Given the description of an element on the screen output the (x, y) to click on. 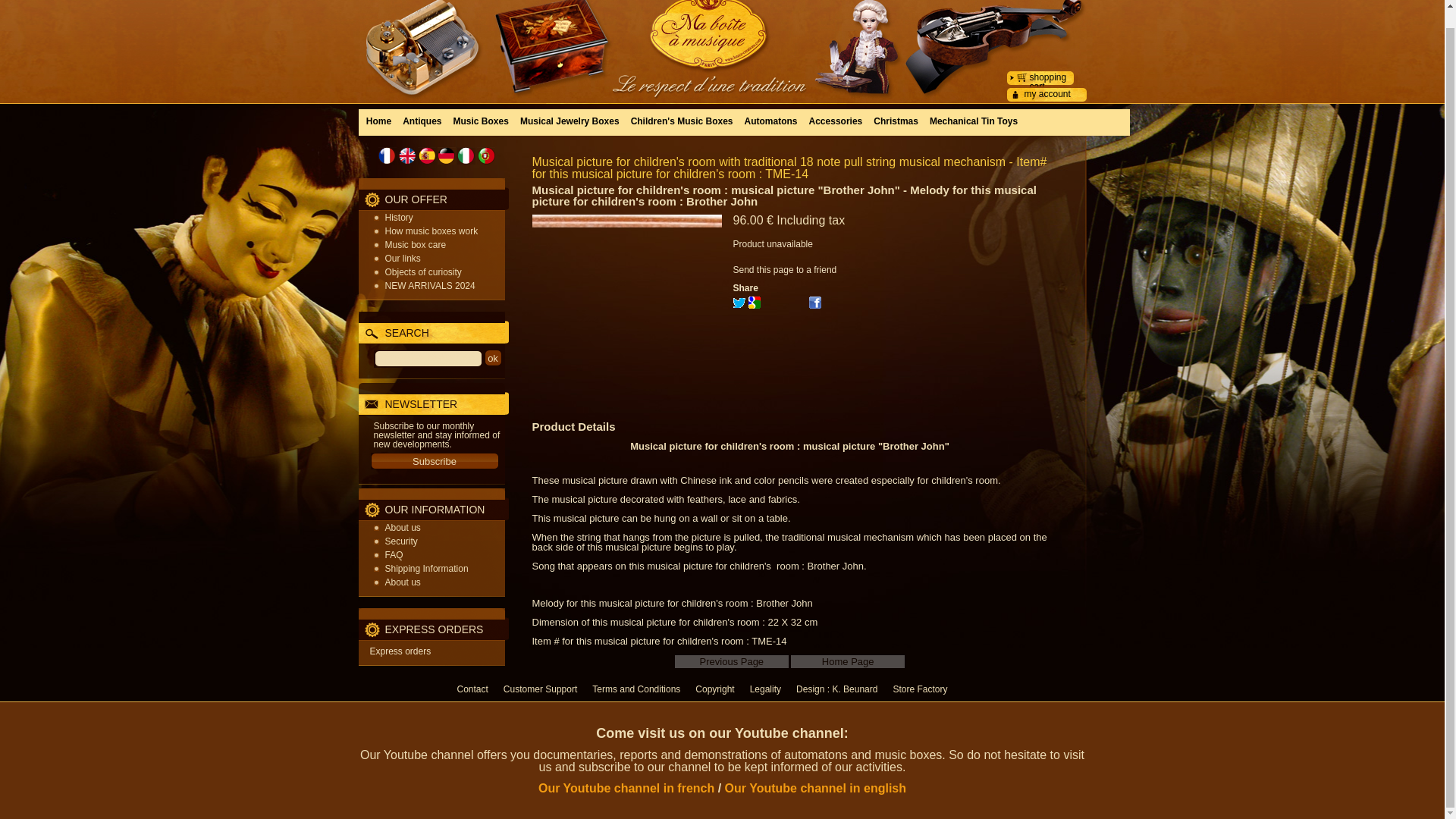
Home (378, 119)
my account (1046, 93)
home page (847, 661)
Home page (722, 37)
English (405, 155)
shopping cart (1048, 81)
Antiques (422, 119)
my account (1046, 93)
Home (378, 119)
shopping cart (1048, 81)
